Given the description of an element on the screen output the (x, y) to click on. 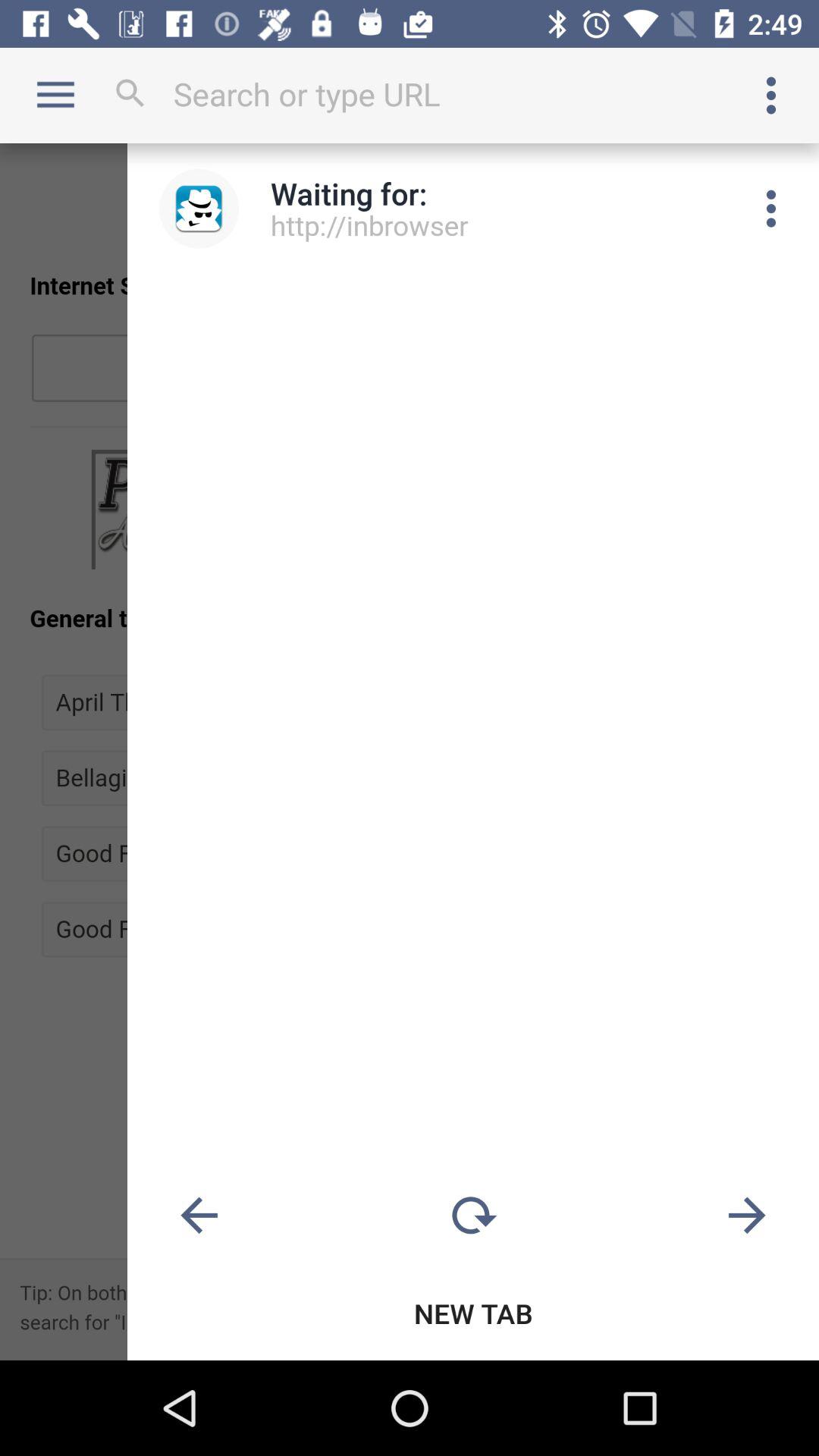
search for keyword or go to url (409, 94)
